Given the description of an element on the screen output the (x, y) to click on. 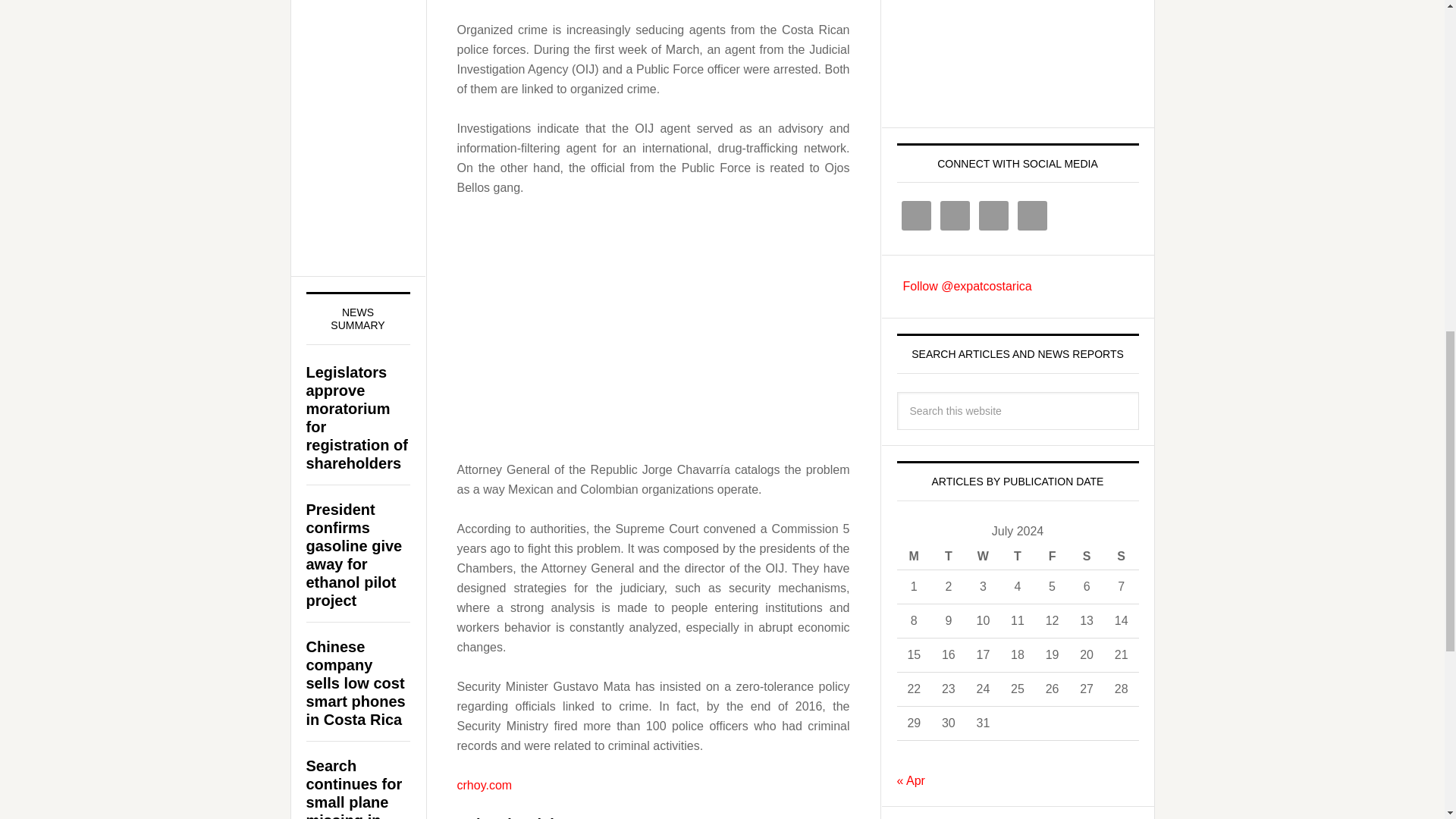
Thursday (1017, 556)
crhoy.com (484, 784)
Wednesday (983, 556)
Monday (913, 556)
Saturday (1085, 556)
Sunday (1120, 556)
Advertisement (652, 384)
Advertisement (1010, 53)
Chinese company sells low cost smart phones in Costa Rica (355, 683)
Friday (1052, 556)
